Given the description of an element on the screen output the (x, y) to click on. 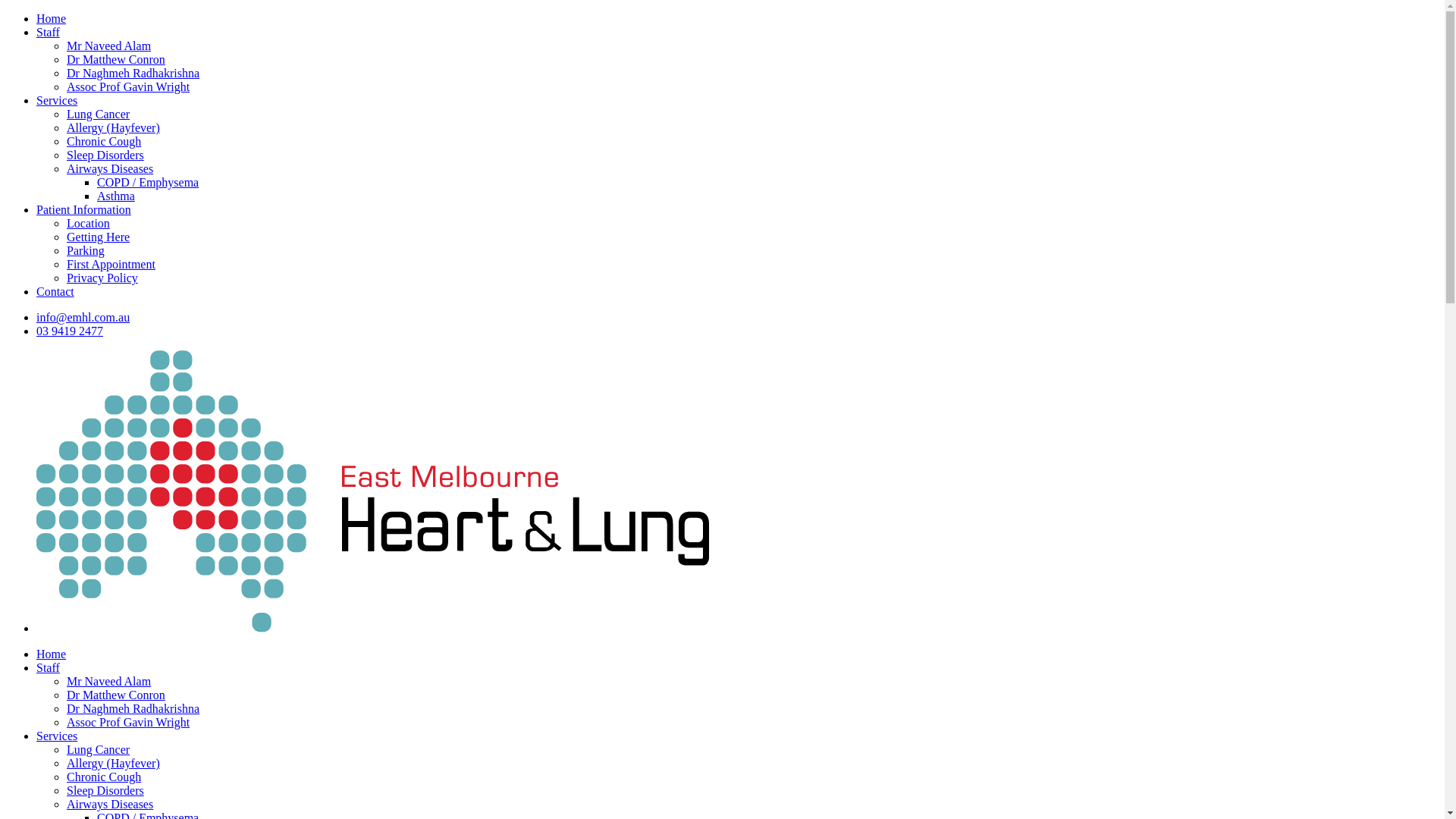
Lung Cancer Element type: text (97, 113)
Mr Naveed Alam Element type: text (108, 45)
Lung Cancer Element type: text (97, 749)
Getting Here Element type: text (97, 236)
Dr Naghmeh Radhakrishna Element type: text (132, 708)
Allergy (Hayfever) Element type: text (113, 127)
Chronic Cough Element type: text (103, 776)
Services Element type: text (56, 735)
Dr Matthew Conron Element type: text (115, 694)
Dr Naghmeh Radhakrishna Element type: text (132, 72)
Services Element type: text (56, 100)
Airways Diseases Element type: text (109, 168)
Assoc Prof Gavin Wright Element type: text (127, 86)
Staff Element type: text (47, 31)
Patient Information Element type: text (83, 209)
Airways Diseases Element type: text (109, 803)
Mr Naveed Alam Element type: text (108, 680)
Asthma Element type: text (115, 195)
03 9419 2477 Element type: text (69, 330)
COPD / Emphysema Element type: text (147, 181)
Allergy (Hayfever) Element type: text (113, 762)
Home Element type: text (50, 653)
Dr Matthew Conron Element type: text (115, 59)
Staff Element type: text (47, 667)
info@emhl.com.au Element type: text (82, 316)
First Appointment Element type: text (110, 263)
Chronic Cough Element type: text (103, 140)
Home Element type: text (50, 18)
Location Element type: text (87, 222)
Parking Element type: text (85, 250)
Sleep Disorders Element type: text (105, 154)
Privacy Policy Element type: text (102, 277)
Assoc Prof Gavin Wright Element type: text (127, 721)
Contact Element type: text (55, 291)
Sleep Disorders Element type: text (105, 790)
